Given the description of an element on the screen output the (x, y) to click on. 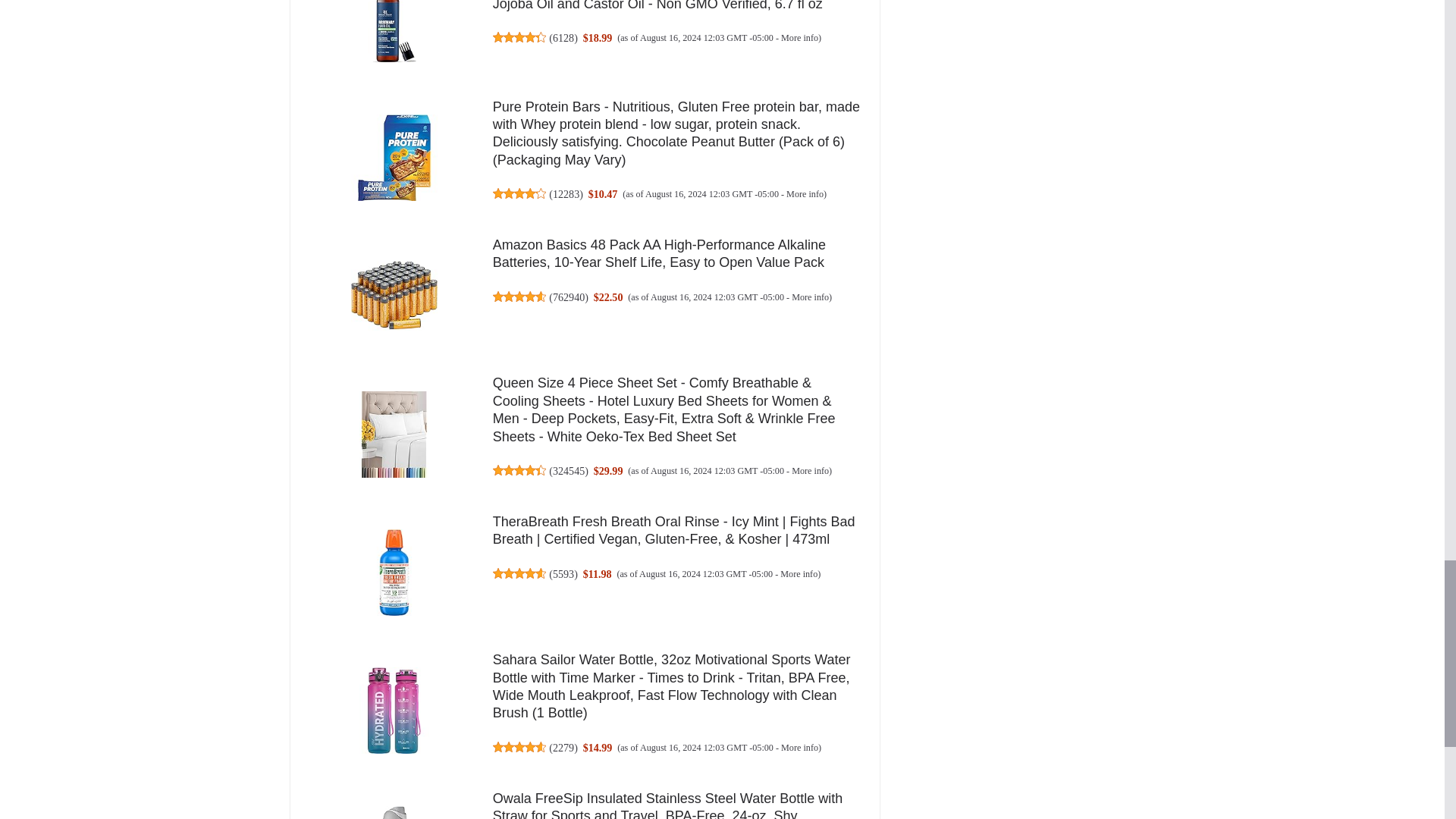
More info (805, 194)
More info (799, 37)
6128 (563, 37)
12283 (566, 193)
